Given the description of an element on the screen output the (x, y) to click on. 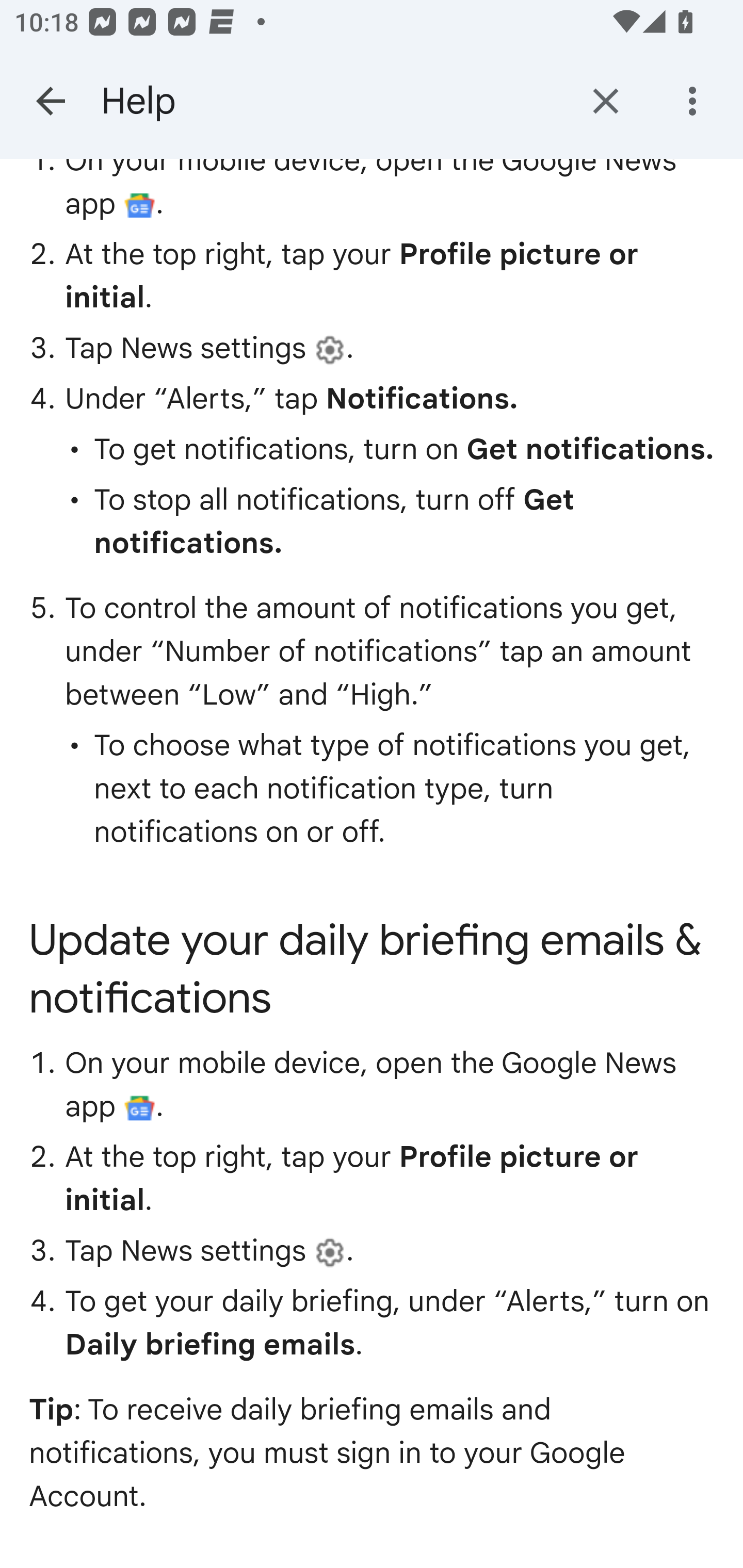
Navigate up (50, 101)
Return to Google News (605, 101)
More options (696, 101)
